Given the description of an element on the screen output the (x, y) to click on. 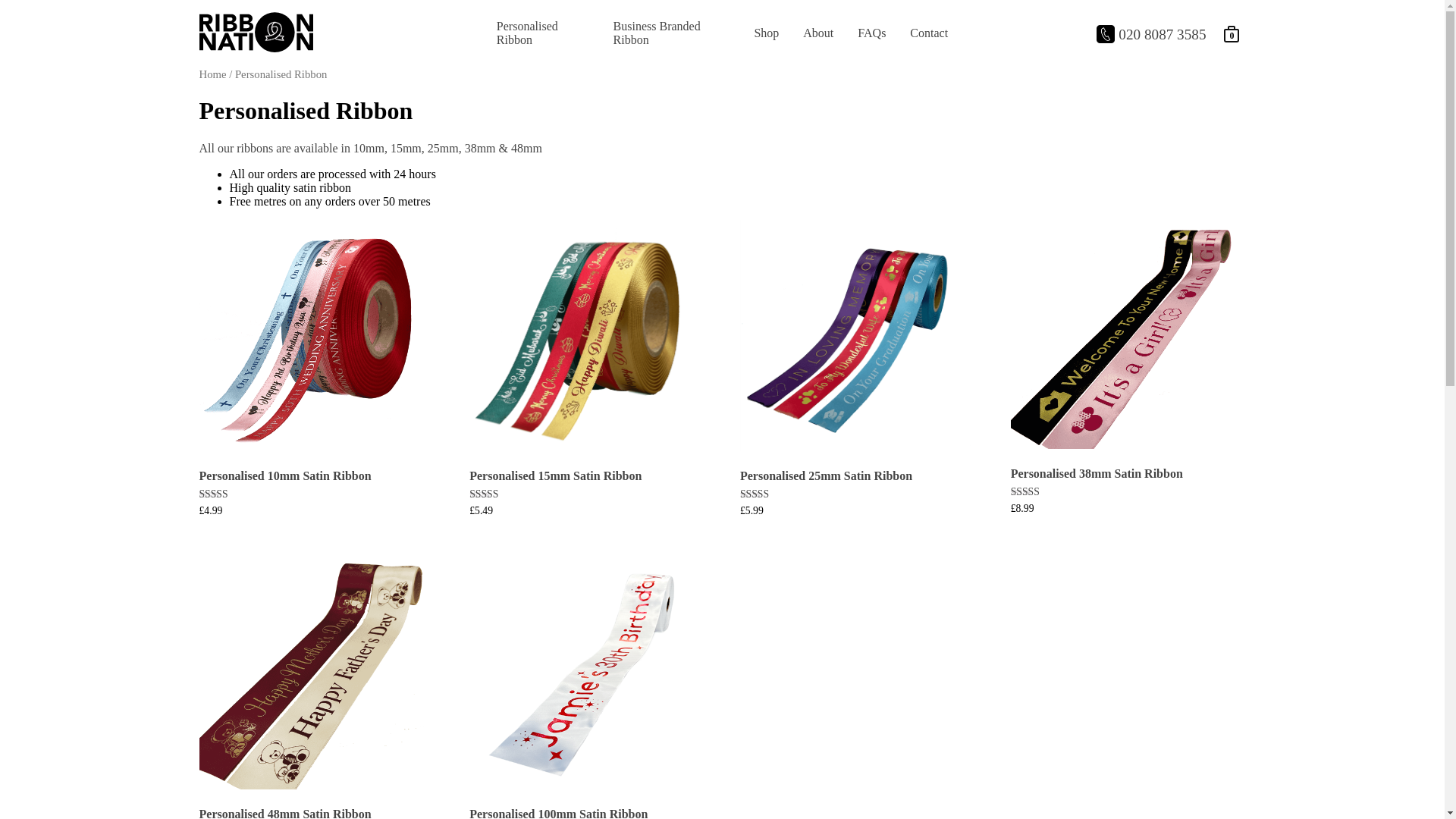
Business Branded Ribbon (671, 33)
Bag Items: 0 (1230, 33)
Contact (928, 33)
Home (211, 73)
020 8087 3585 (1150, 34)
0 (1230, 33)
Personalised Ribbon (542, 33)
